Given the description of an element on the screen output the (x, y) to click on. 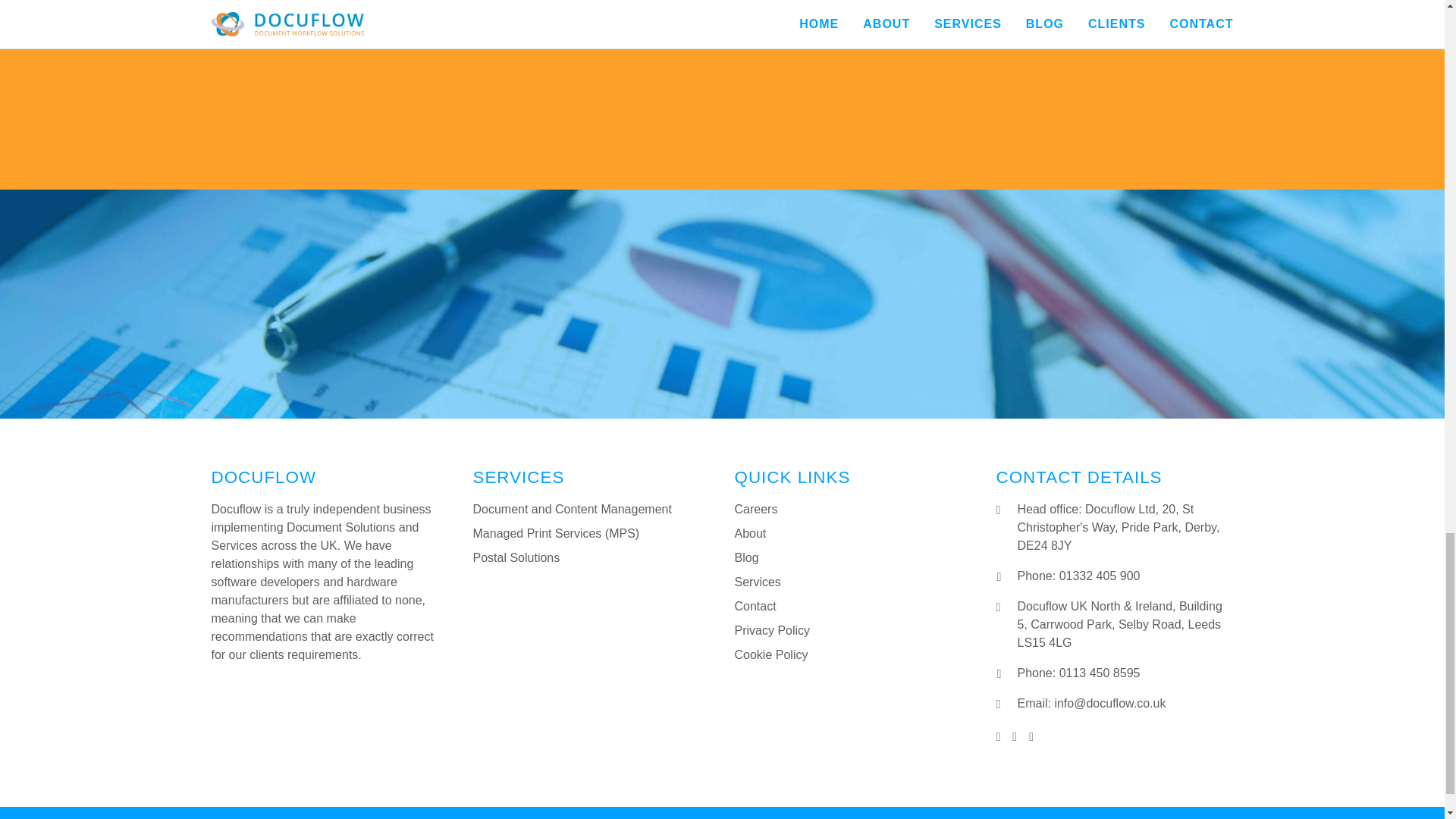
01332 405 900 (1099, 575)
Contact (754, 605)
Services (756, 581)
Postal Solutions (516, 557)
Privacy Policy (771, 630)
Blog (745, 557)
0113 450 8595 (1099, 672)
About (749, 533)
Careers (755, 508)
Document and Content Management (572, 508)
